Given the description of an element on the screen output the (x, y) to click on. 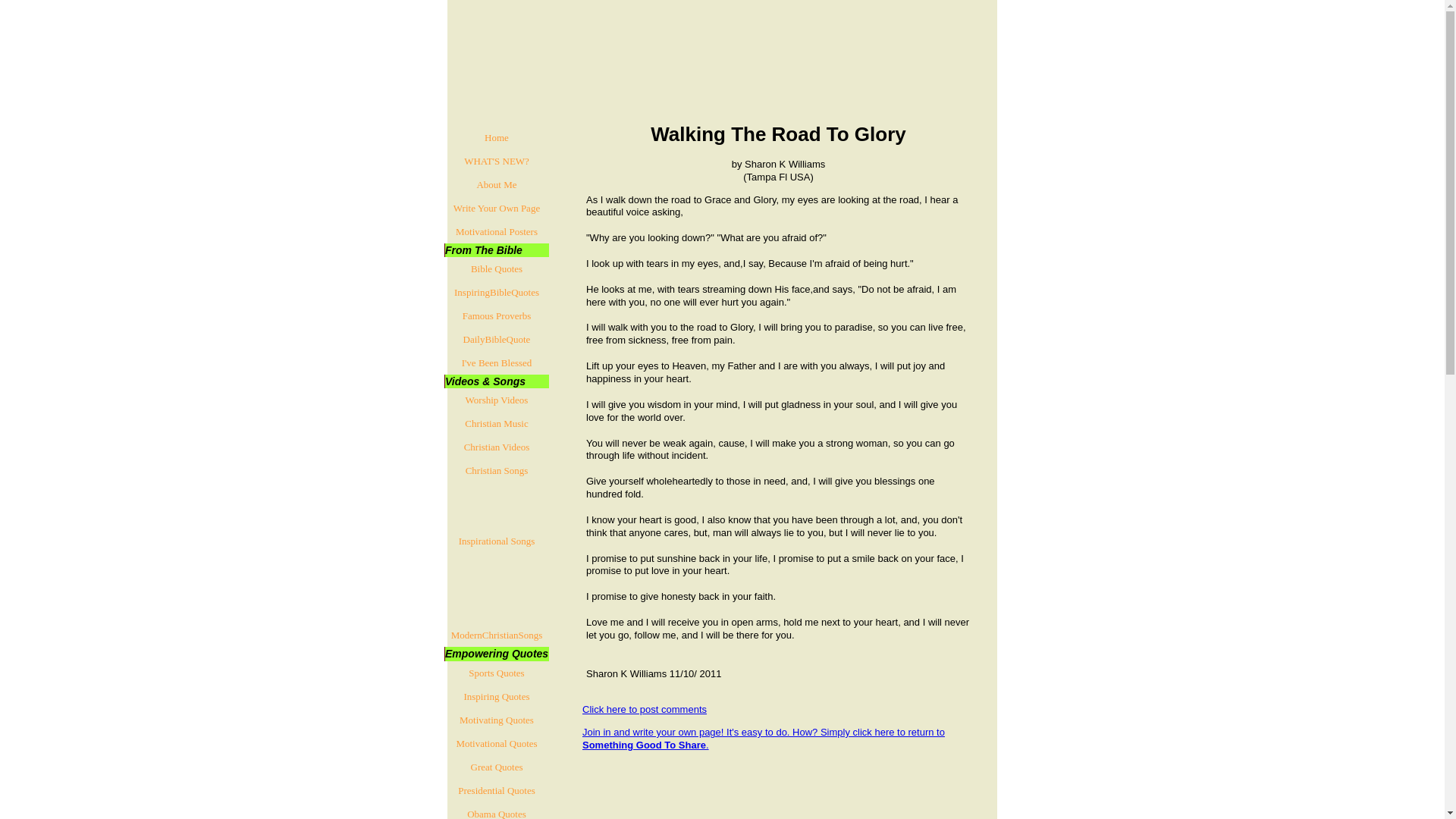
I've Been Blessed (496, 362)
Sports Quotes (496, 672)
About Me (496, 184)
Motivational Quotes (496, 743)
Worship Videos (496, 399)
Inspiring Quotes (496, 696)
Inspirational Songs (496, 540)
Obama Quotes (496, 810)
Home (496, 137)
Great Quotes (496, 766)
Motivational Posters (496, 231)
ModernChristianSongs (496, 635)
WHAT'S NEW? (496, 160)
DailyBibleQuote (496, 339)
